Given the description of an element on the screen output the (x, y) to click on. 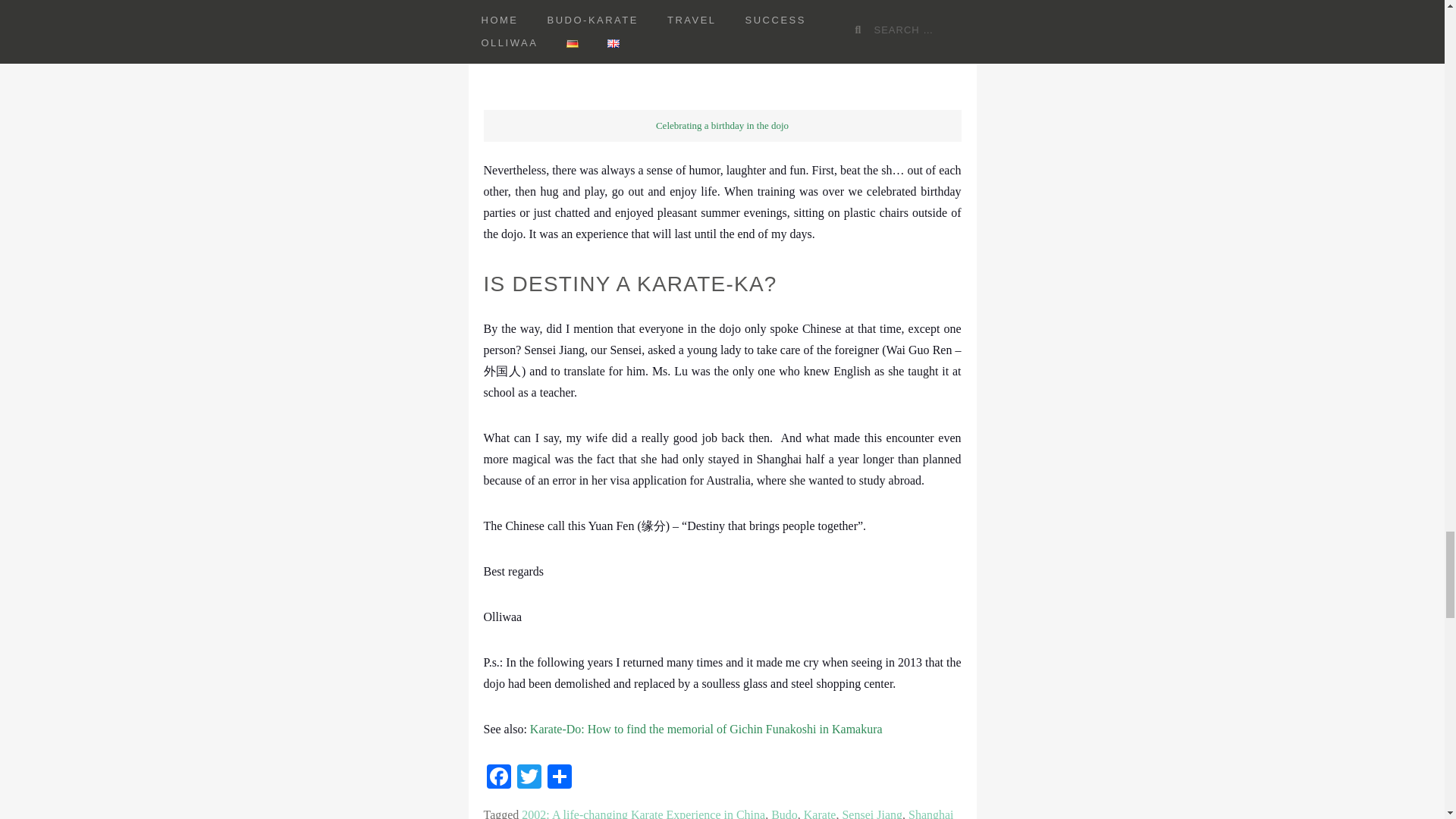
Budo (784, 813)
Facebook (498, 778)
Shanghai Student Karate (718, 813)
Facebook (498, 778)
Karate (819, 813)
Sensei Jiang (871, 813)
2002: A life-changing Karate Experience in China (643, 813)
Twitter (528, 778)
Twitter (528, 778)
